Given the description of an element on the screen output the (x, y) to click on. 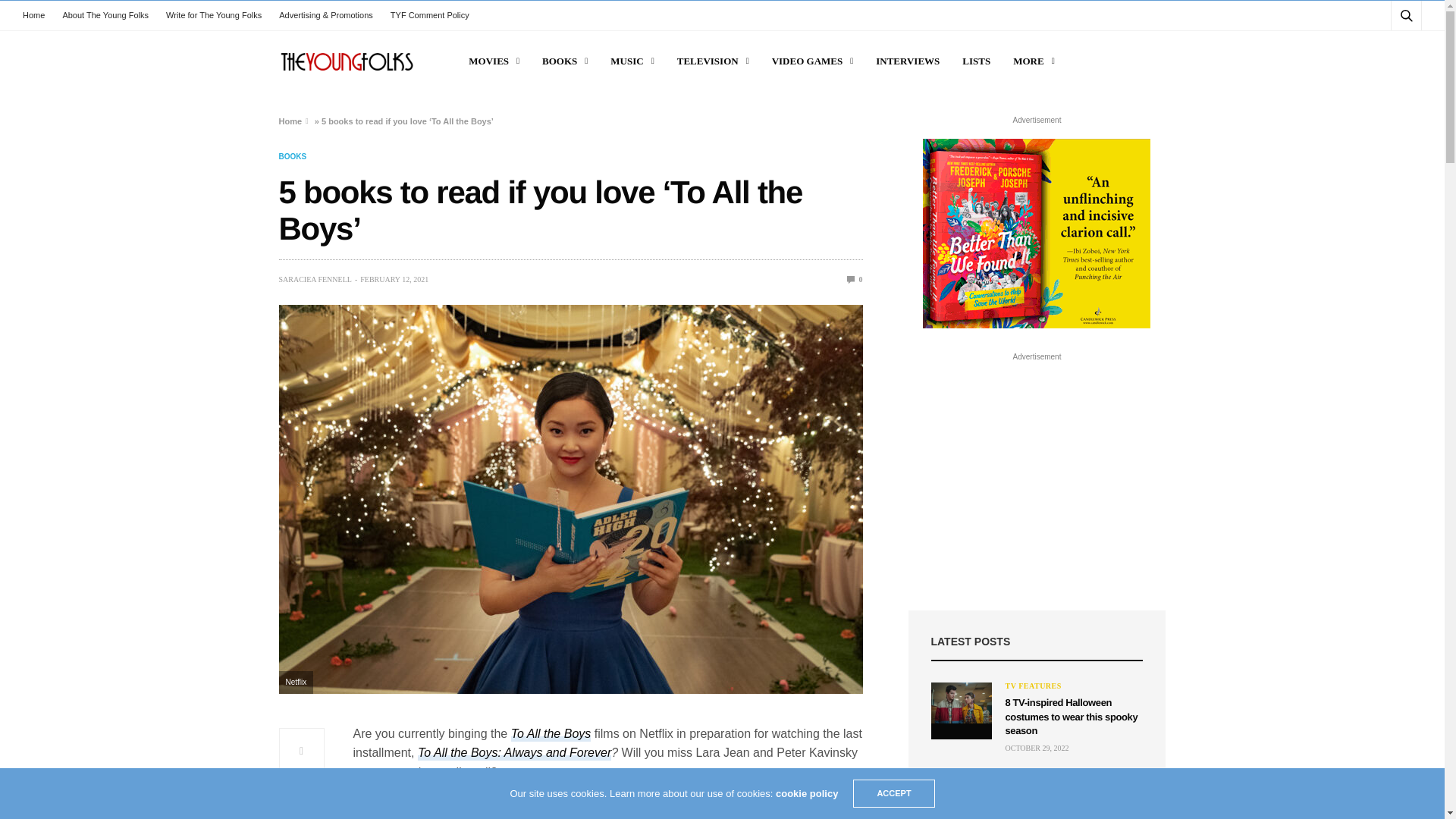
TELEVISION (713, 61)
VIDEO GAMES (812, 61)
MOVIES (493, 61)
Movies (493, 61)
Books (293, 156)
MUSIC (631, 61)
Posts by Saraciea Fennell (315, 279)
Write for The Young Folks (213, 15)
Home (37, 15)
About The Young Folks (105, 15)
BOOKS (564, 61)
Search (1386, 51)
Lists (976, 61)
TYF Comment Policy (429, 15)
